Given the description of an element on the screen output the (x, y) to click on. 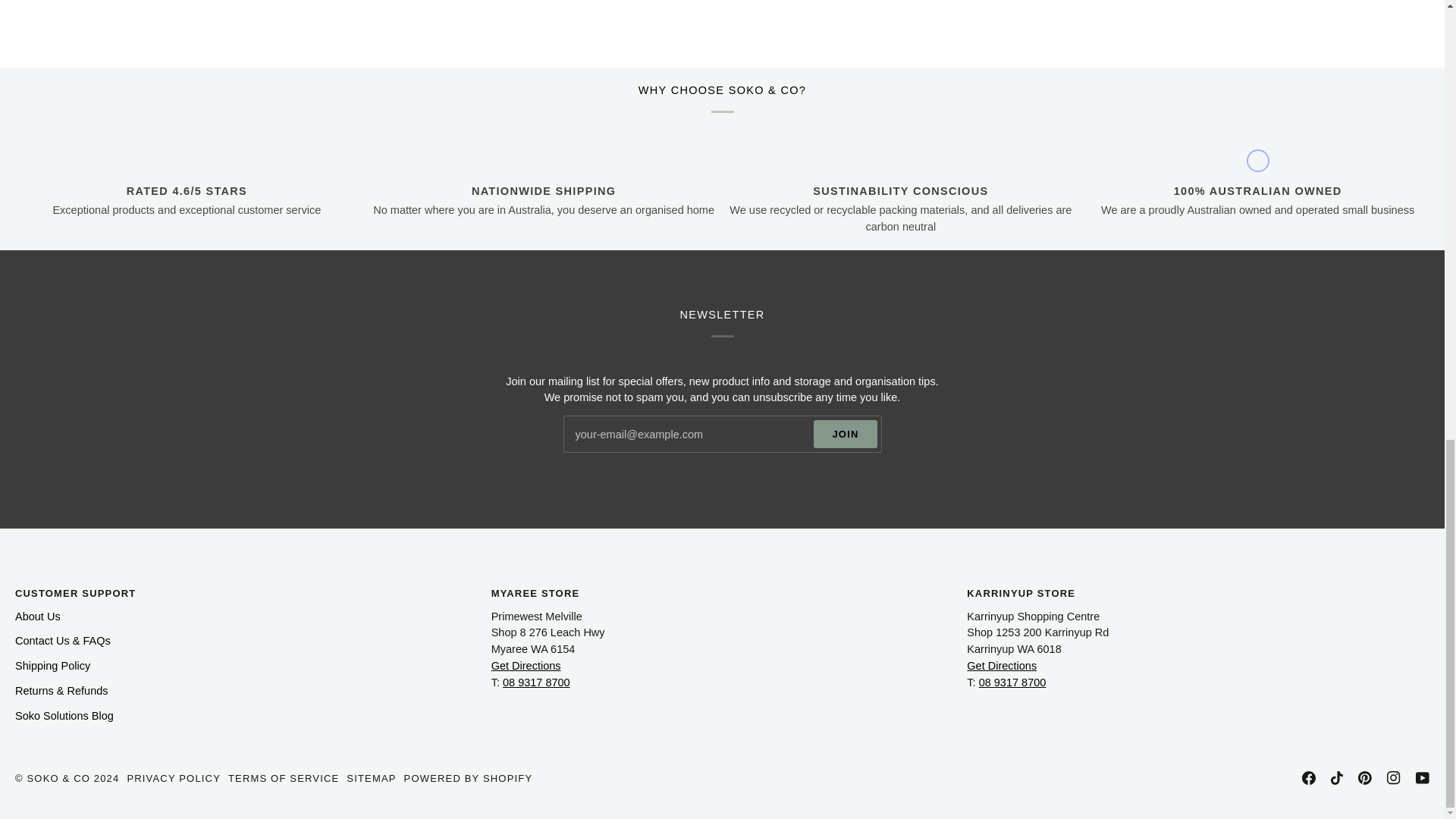
tel:61893178700 (1012, 682)
Facebook (1308, 777)
Tiktok (1336, 777)
Instagram (1393, 777)
Pinterest (1364, 777)
YouTube (1422, 777)
